Given the description of an element on the screen output the (x, y) to click on. 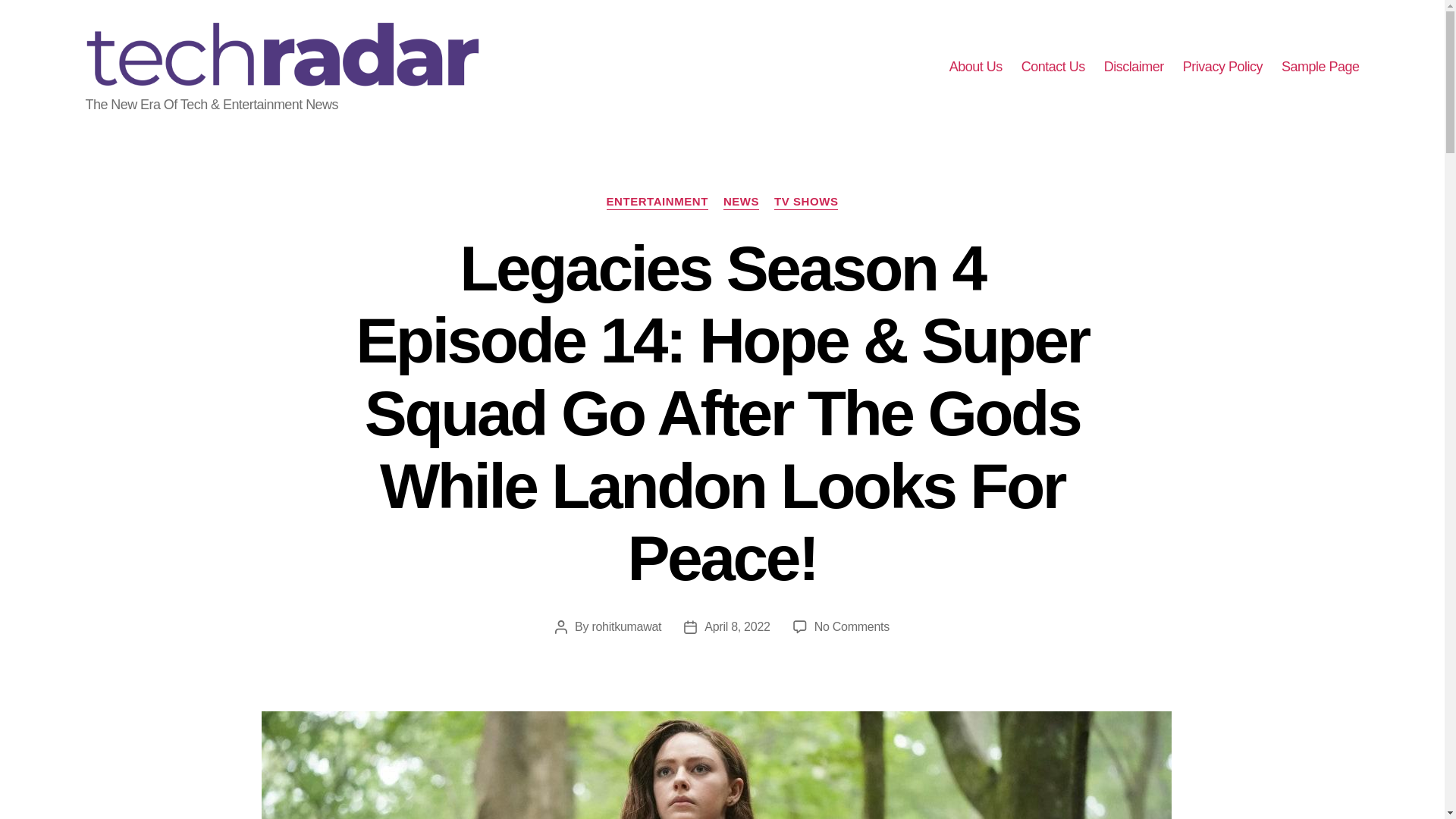
Privacy Policy (1222, 67)
April 8, 2022 (737, 626)
NEWS (740, 201)
Disclaimer (1133, 67)
About Us (976, 67)
Sample Page (1320, 67)
rohitkumawat (626, 626)
Contact Us (1053, 67)
TV SHOWS (806, 201)
ENTERTAINMENT (657, 201)
